Given the description of an element on the screen output the (x, y) to click on. 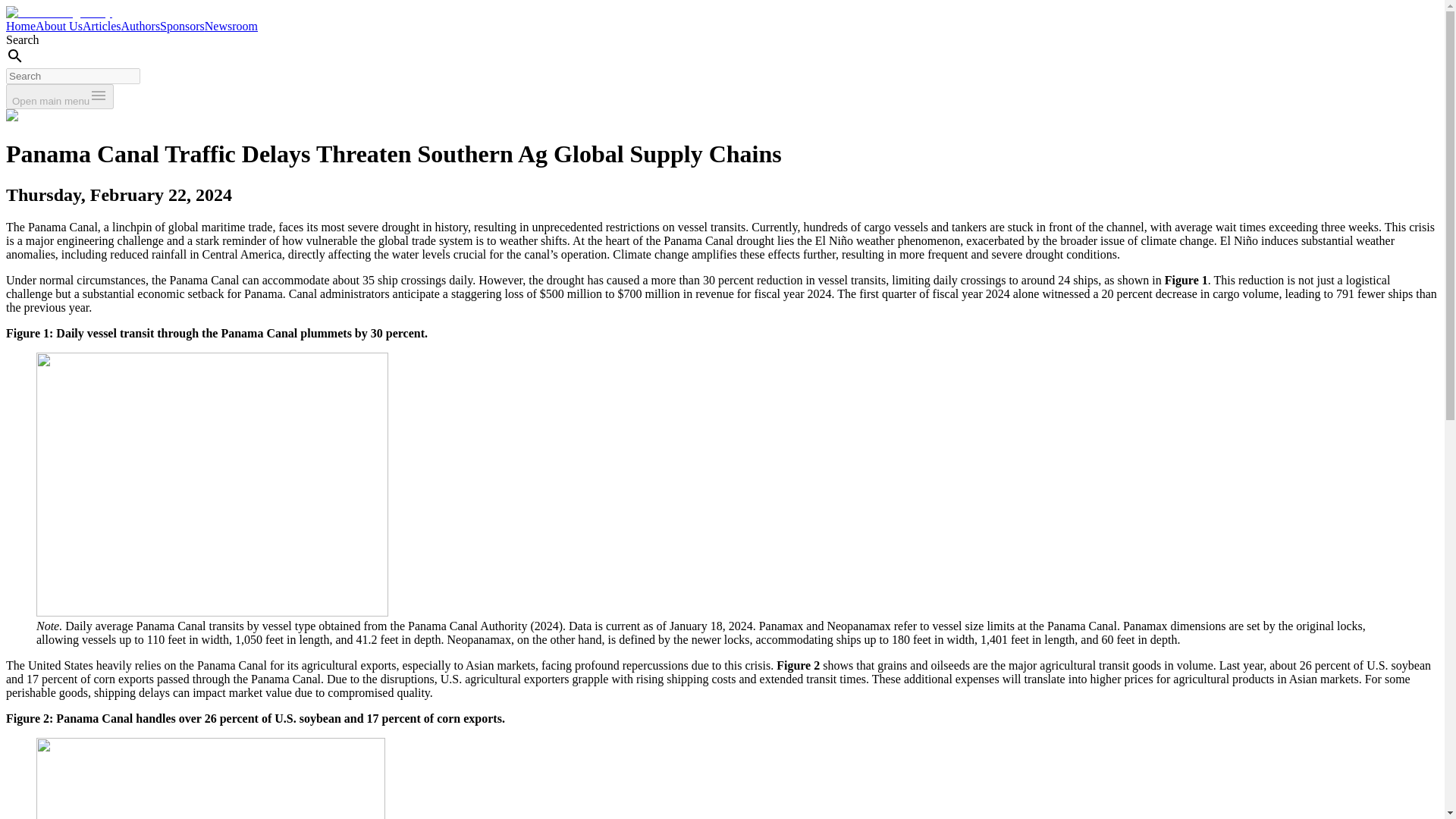
About Us (58, 25)
Open main menu (59, 96)
Authors (140, 25)
Sponsors (182, 25)
Newsroom (231, 25)
Home (19, 25)
Articles (101, 25)
